Given the description of an element on the screen output the (x, y) to click on. 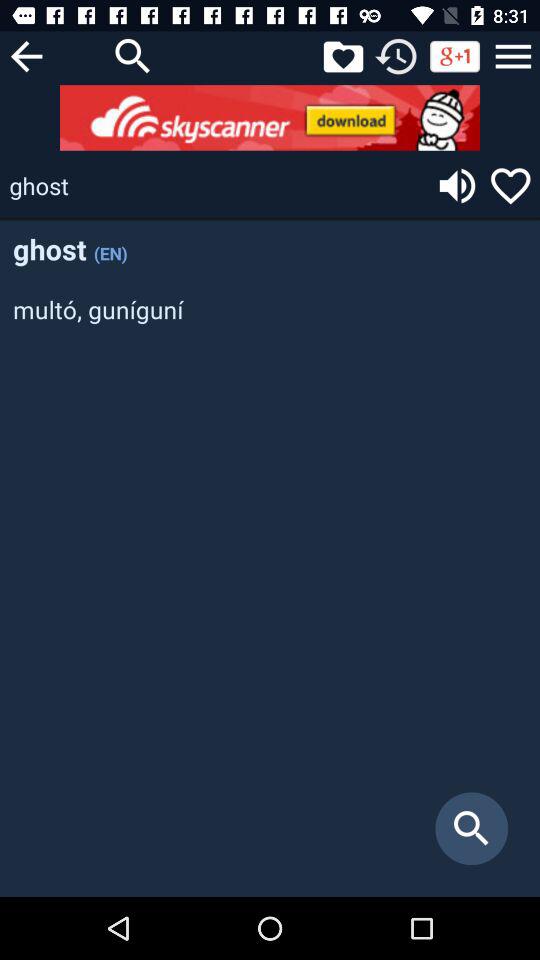
searching the process (133, 56)
